Given the description of an element on the screen output the (x, y) to click on. 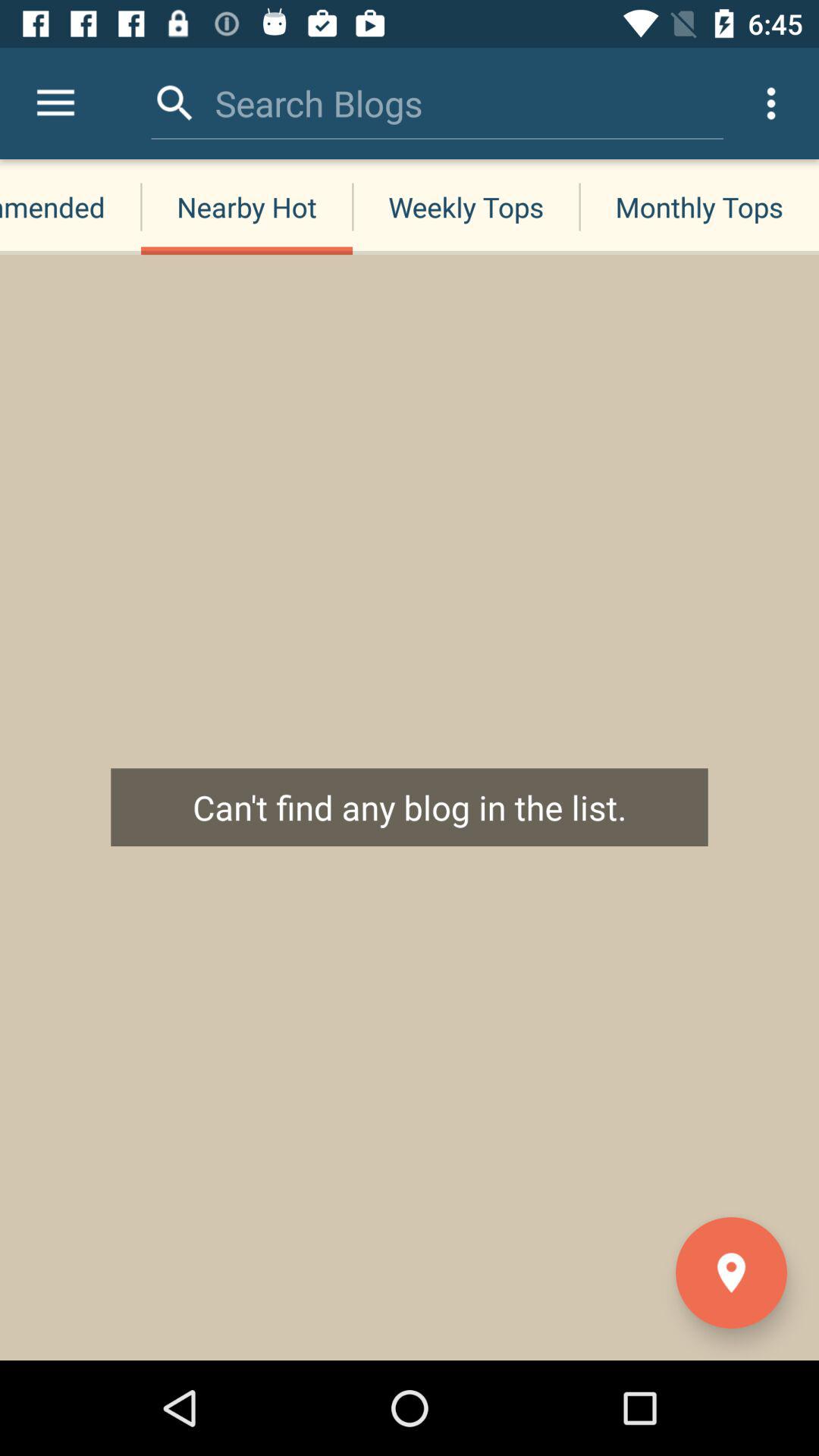
select recommended icon (70, 206)
